Given the description of an element on the screen output the (x, y) to click on. 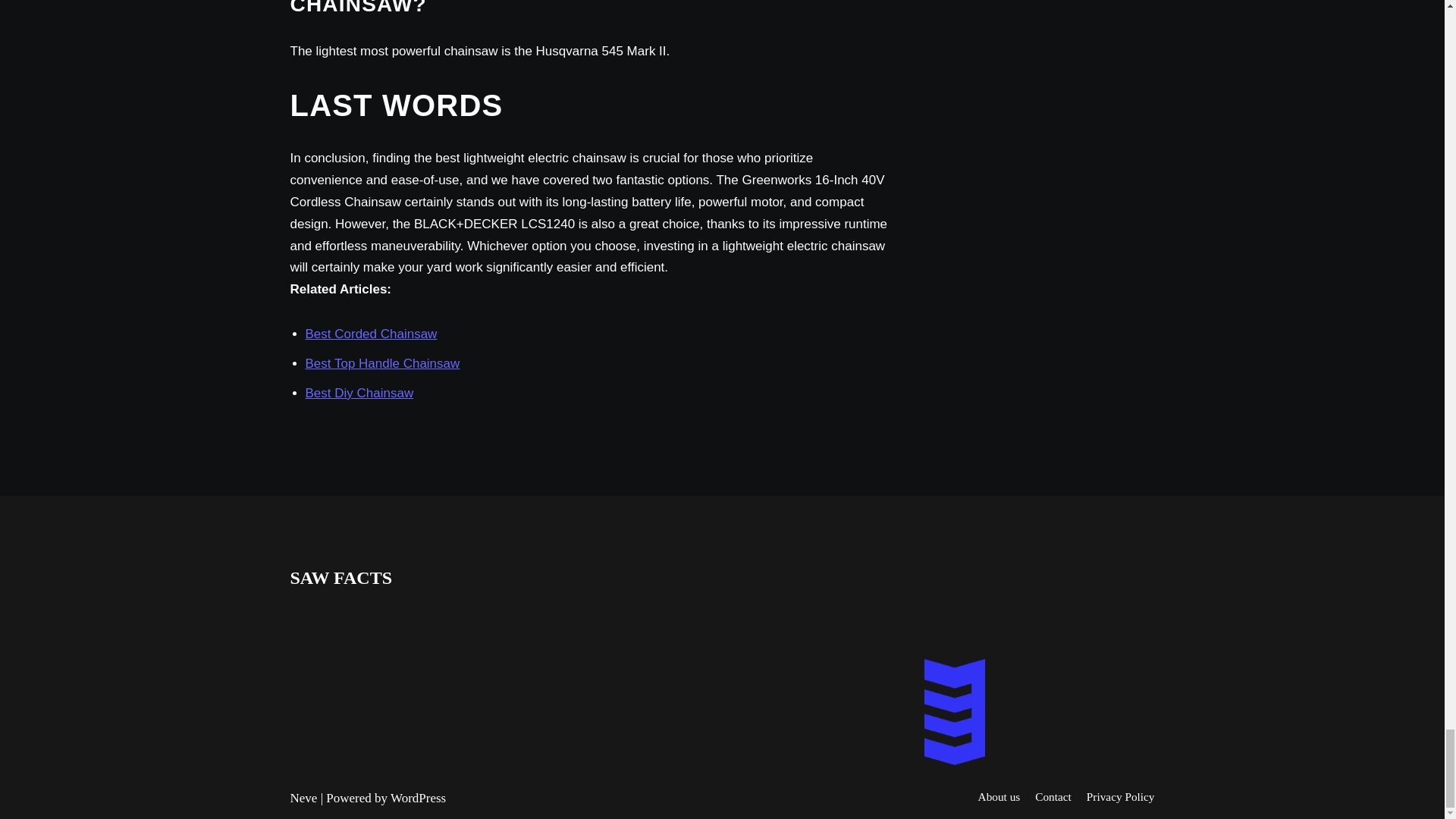
Best Top Handle Chainsaw (382, 363)
Best Corded Chainsaw (370, 333)
Best Diy Chainsaw (358, 392)
